Given the description of an element on the screen output the (x, y) to click on. 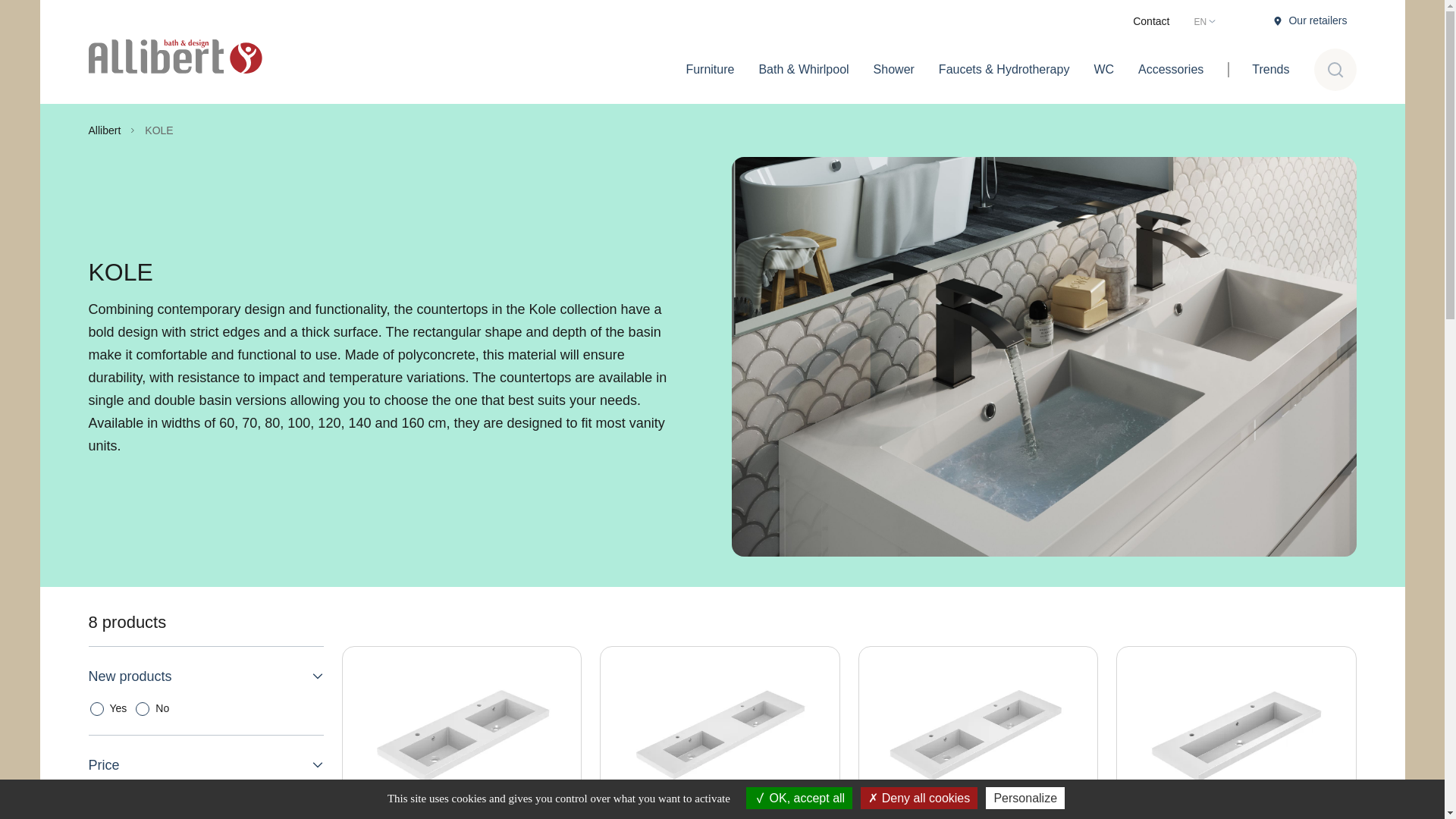
Personalize (1024, 798)
Our retailers (1309, 20)
OK, accept all (798, 798)
Furniture (708, 68)
Deny all cookies (918, 798)
on (142, 708)
on (95, 708)
